Given the description of an element on the screen output the (x, y) to click on. 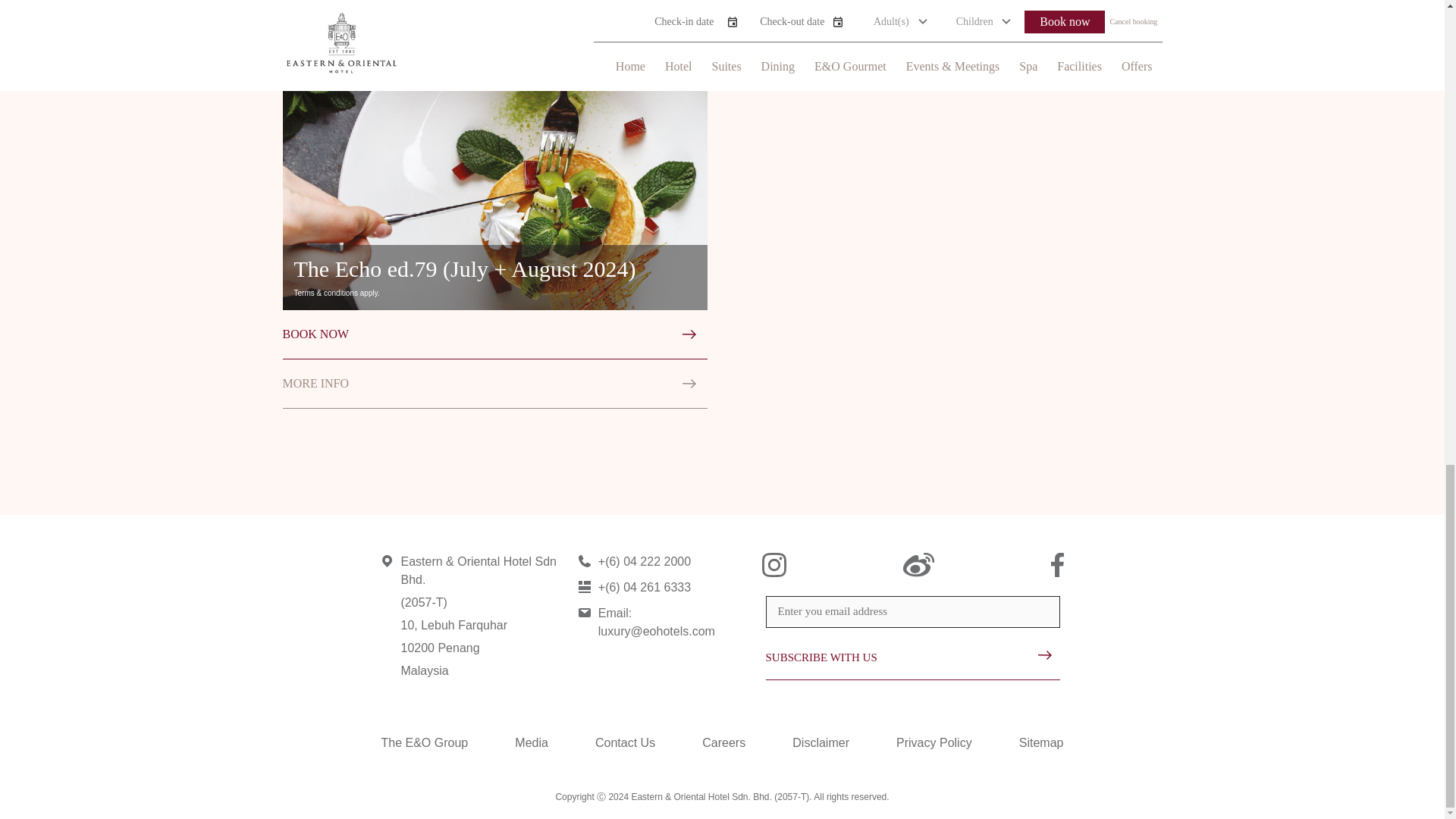
SUBSCRIBE WITH US (912, 664)
Careers (723, 742)
Media (531, 742)
BOOK NOW (494, 334)
Disclaimer (820, 742)
Sitemap (1041, 742)
MORE INFO (494, 383)
Privacy Policy (934, 742)
Contact Us (625, 742)
EXPLORE MORE OFFERS (1069, 15)
SUBSCRIBE WITH US (912, 664)
